Given the description of an element on the screen output the (x, y) to click on. 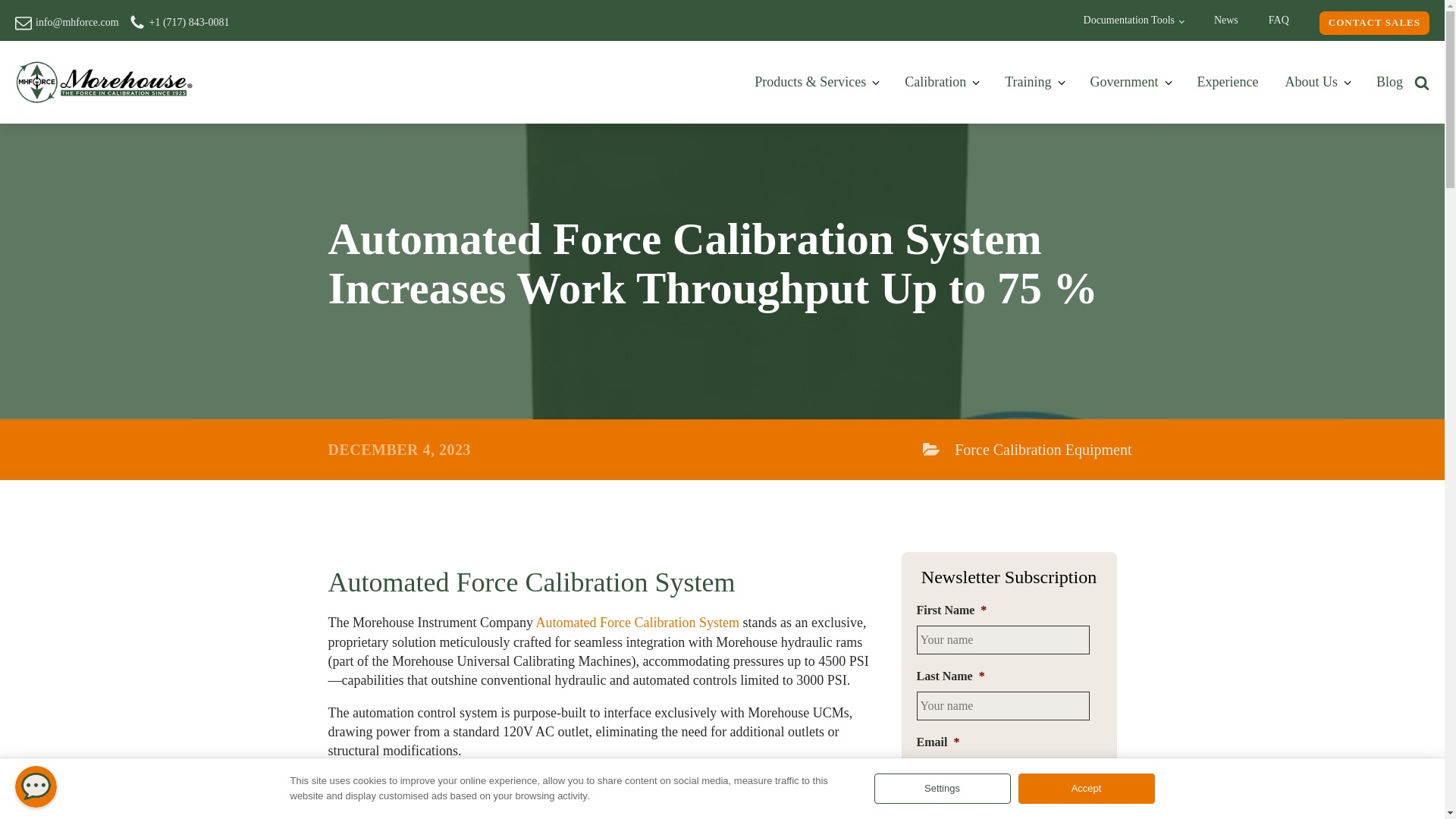
1 (920, 807)
Documentation Tools (1133, 20)
CONTACT SALES (1374, 23)
FAQ (1278, 20)
Government (1132, 82)
News (1225, 20)
